Given the description of an element on the screen output the (x, y) to click on. 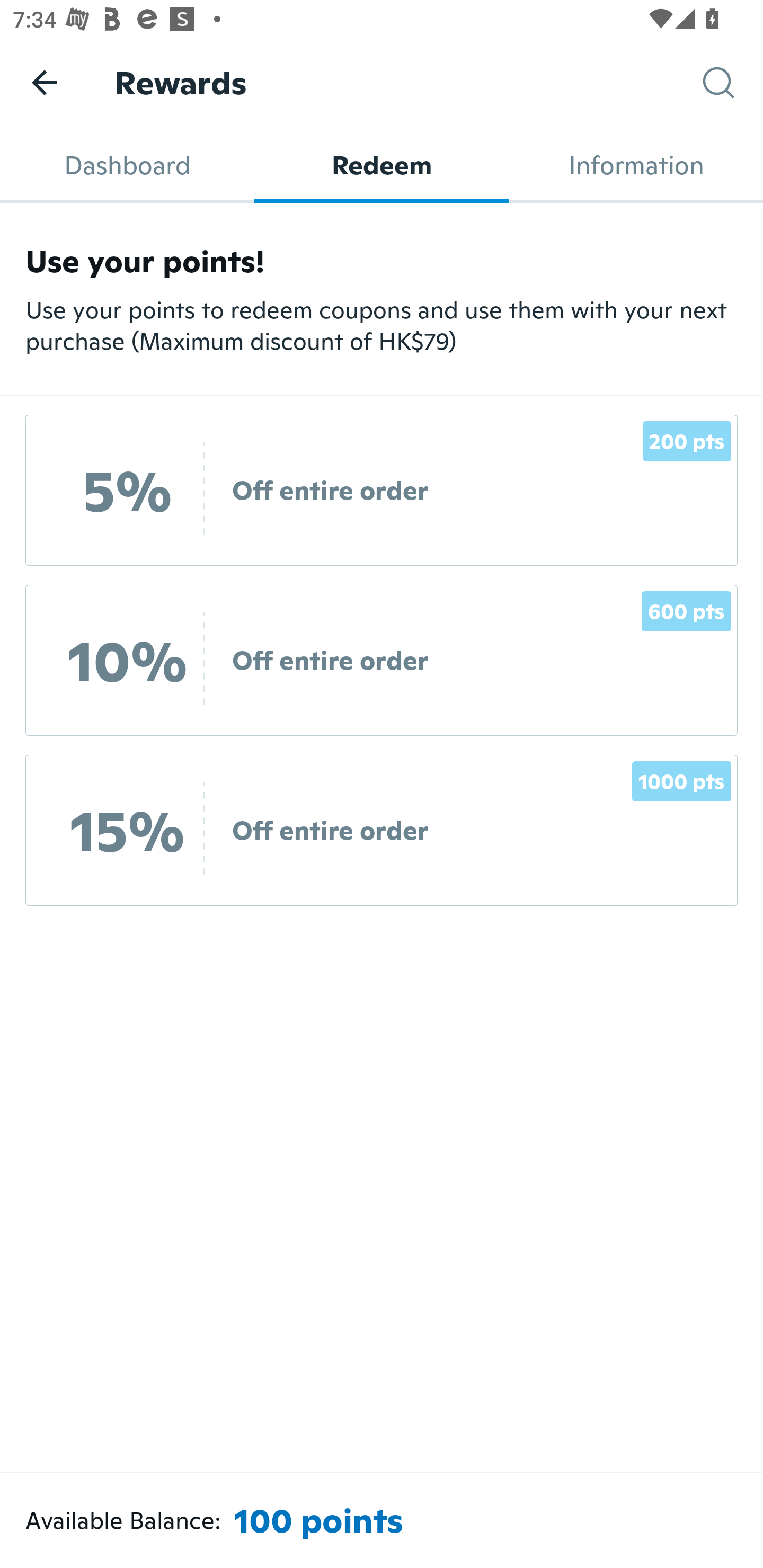
Navigate up (44, 82)
Search (732, 82)
Dashboard (127, 165)
Redeem (381, 165)
Information (635, 165)
5% 200 pts Off entire order (381, 490)
10% 600 pts Off entire order (381, 659)
15% 1000 pts Off entire order (381, 830)
